Given the description of an element on the screen output the (x, y) to click on. 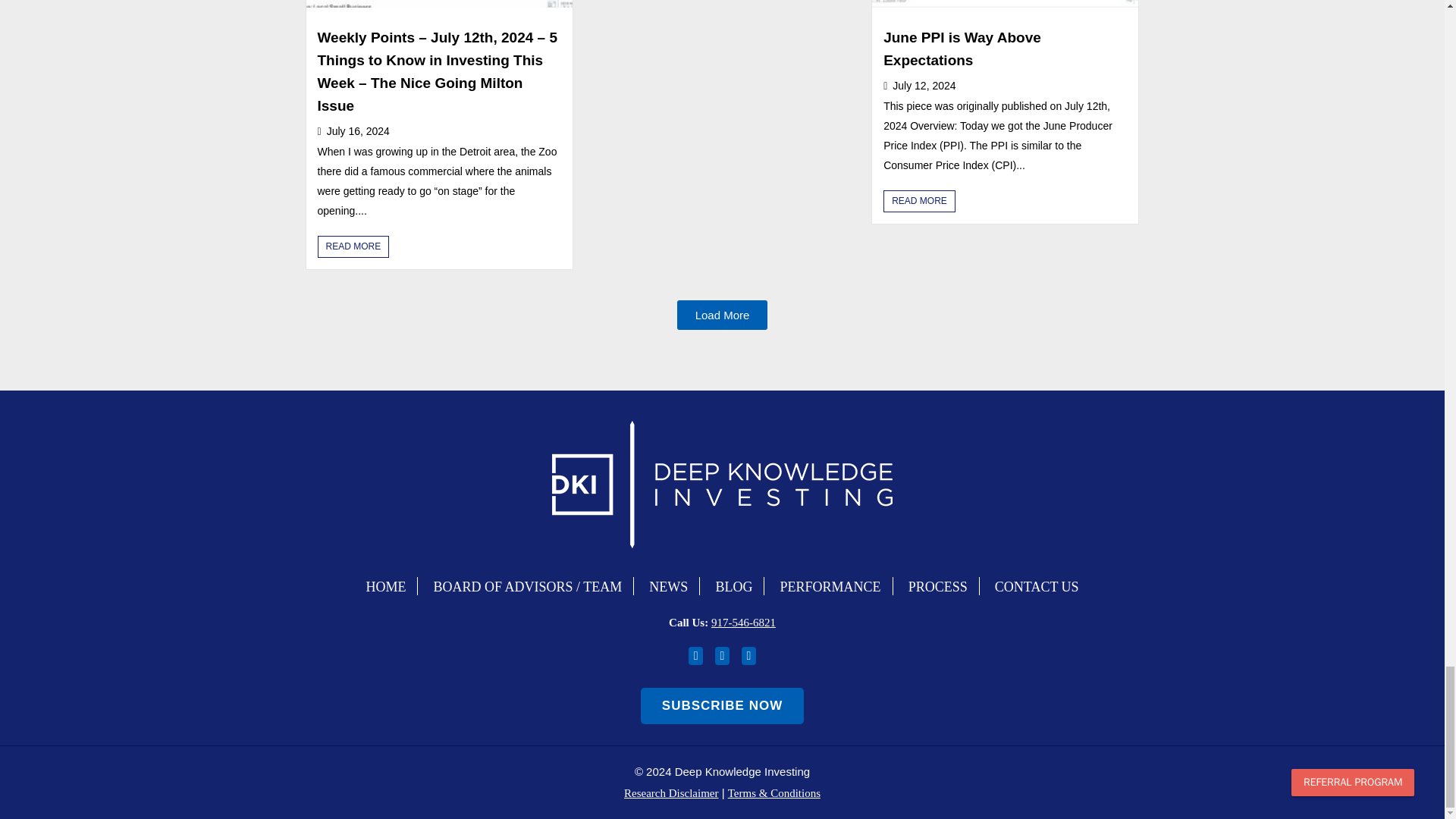
June PPI is Way Above Expectations (962, 48)
